Given the description of an element on the screen output the (x, y) to click on. 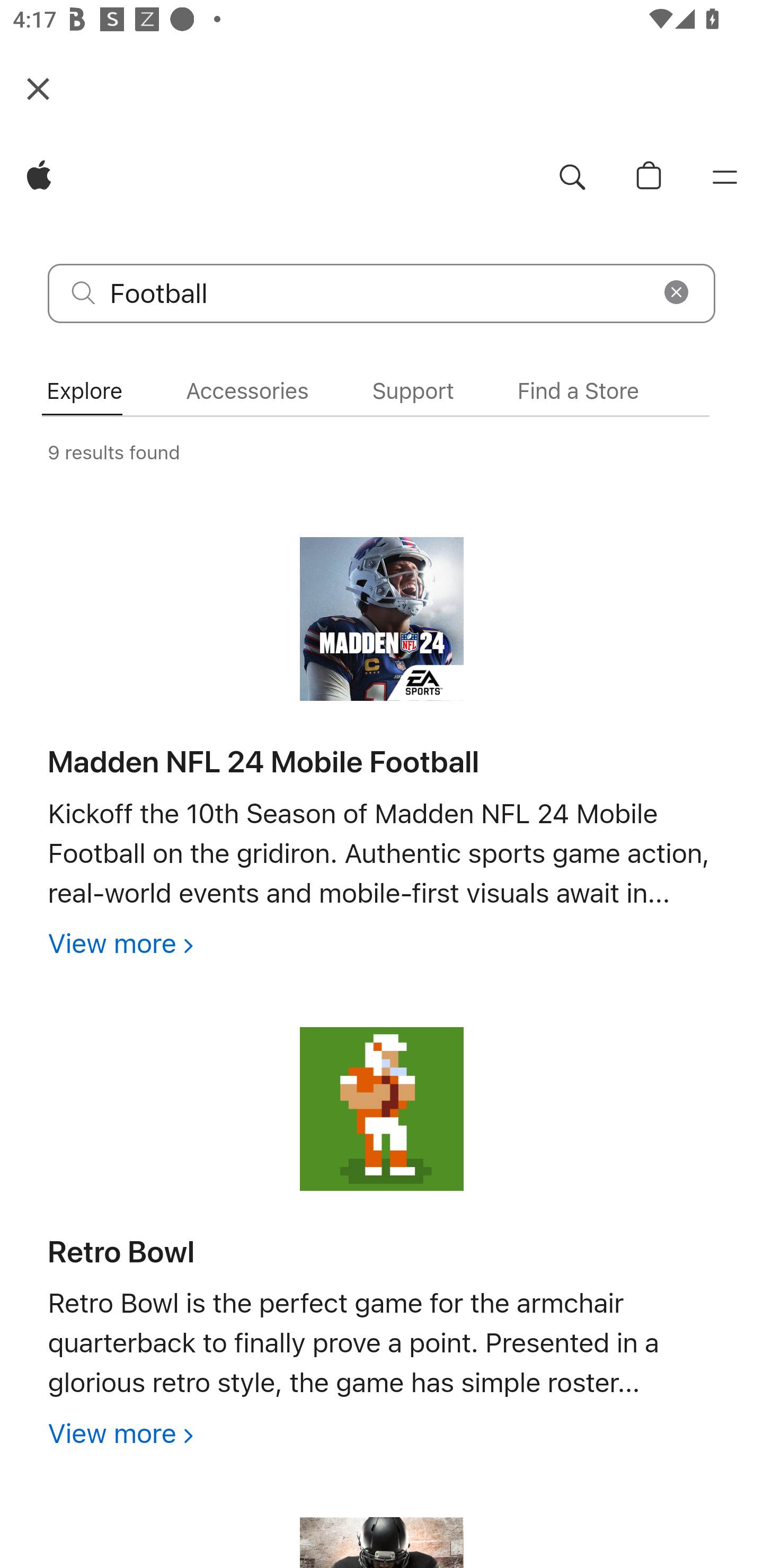
Close (38, 88)
Apple (38, 177)
Search apple.com (572, 177)
Shopping Bag (648, 177)
Menu (724, 177)
Football (381, 293)
Submit (83, 292)
Reset (676, 292)
Explore (83, 390)
Accessories (246, 390)
Support (413, 390)
Find a Store (577, 390)
View more View more  (120, 942)
Retro Bowl Retro Bowl Retro Bowl (121, 1251)
View more View more  (120, 1432)
